Given the description of an element on the screen output the (x, y) to click on. 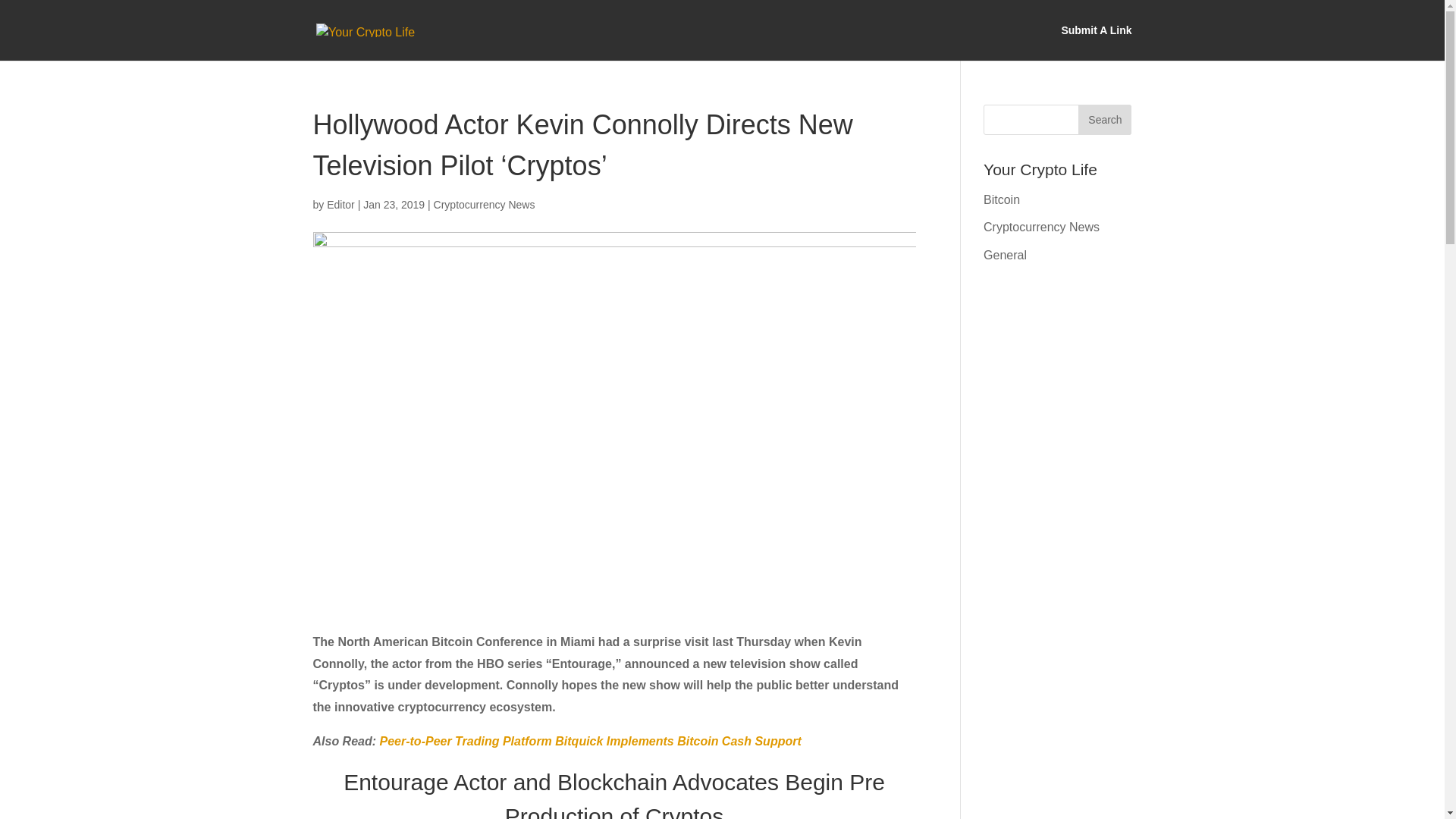
Search (1104, 119)
Cryptocurrency News (1041, 226)
Submit A Link (1096, 42)
Search (1104, 119)
Bitcoin (1002, 198)
Editor (340, 204)
General (1005, 254)
Cryptocurrency News (484, 204)
Posts by Editor (340, 204)
